Given the description of an element on the screen output the (x, y) to click on. 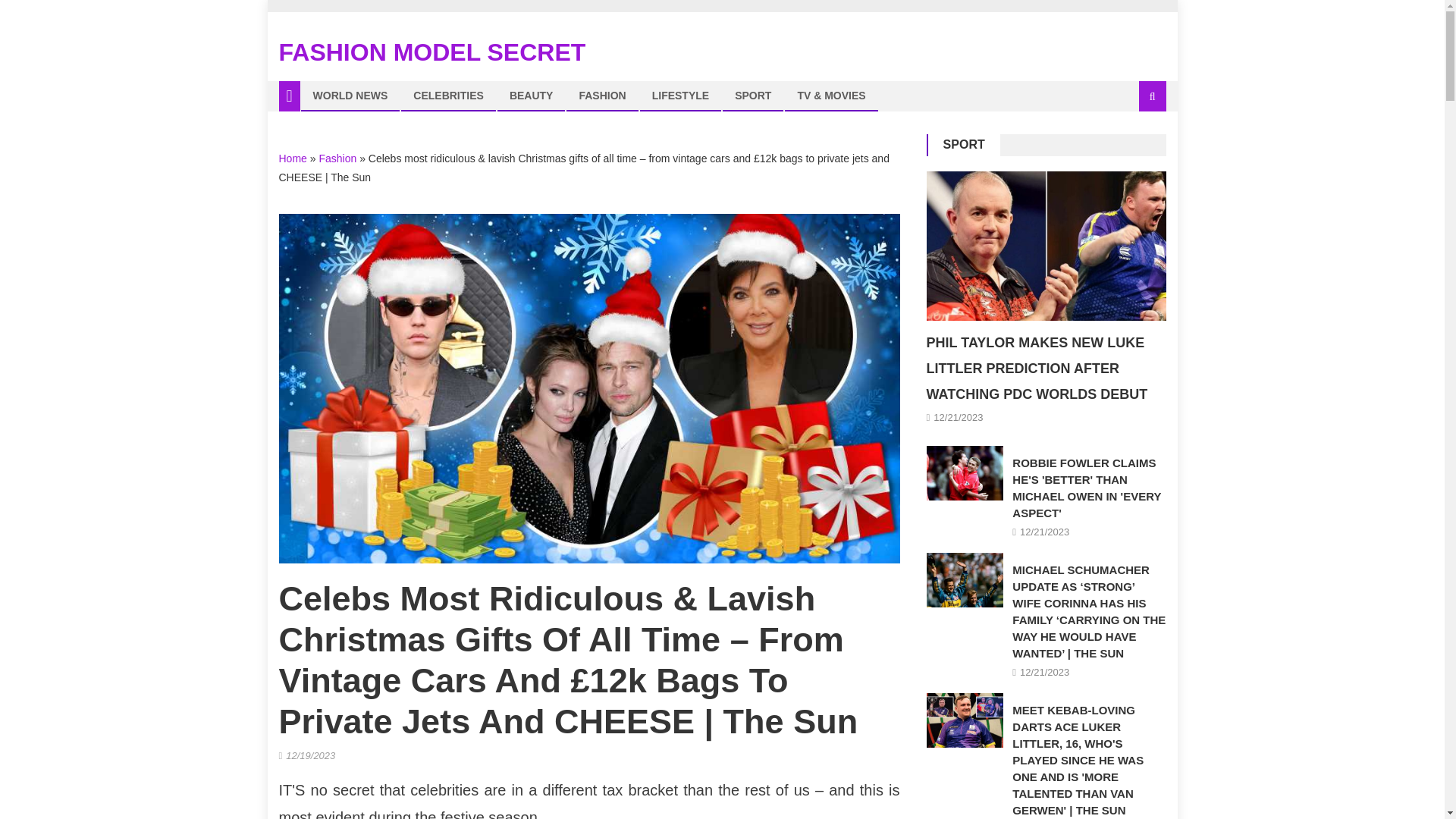
CELEBRITIES (448, 95)
SPORT (753, 95)
LIFESTYLE (680, 95)
Fashion (337, 158)
Home (293, 158)
FASHION (602, 95)
Search (1133, 146)
BEAUTY (530, 95)
SPORT (964, 144)
FASHION MODEL SECRET (432, 52)
WORLD NEWS (349, 95)
